Given the description of an element on the screen output the (x, y) to click on. 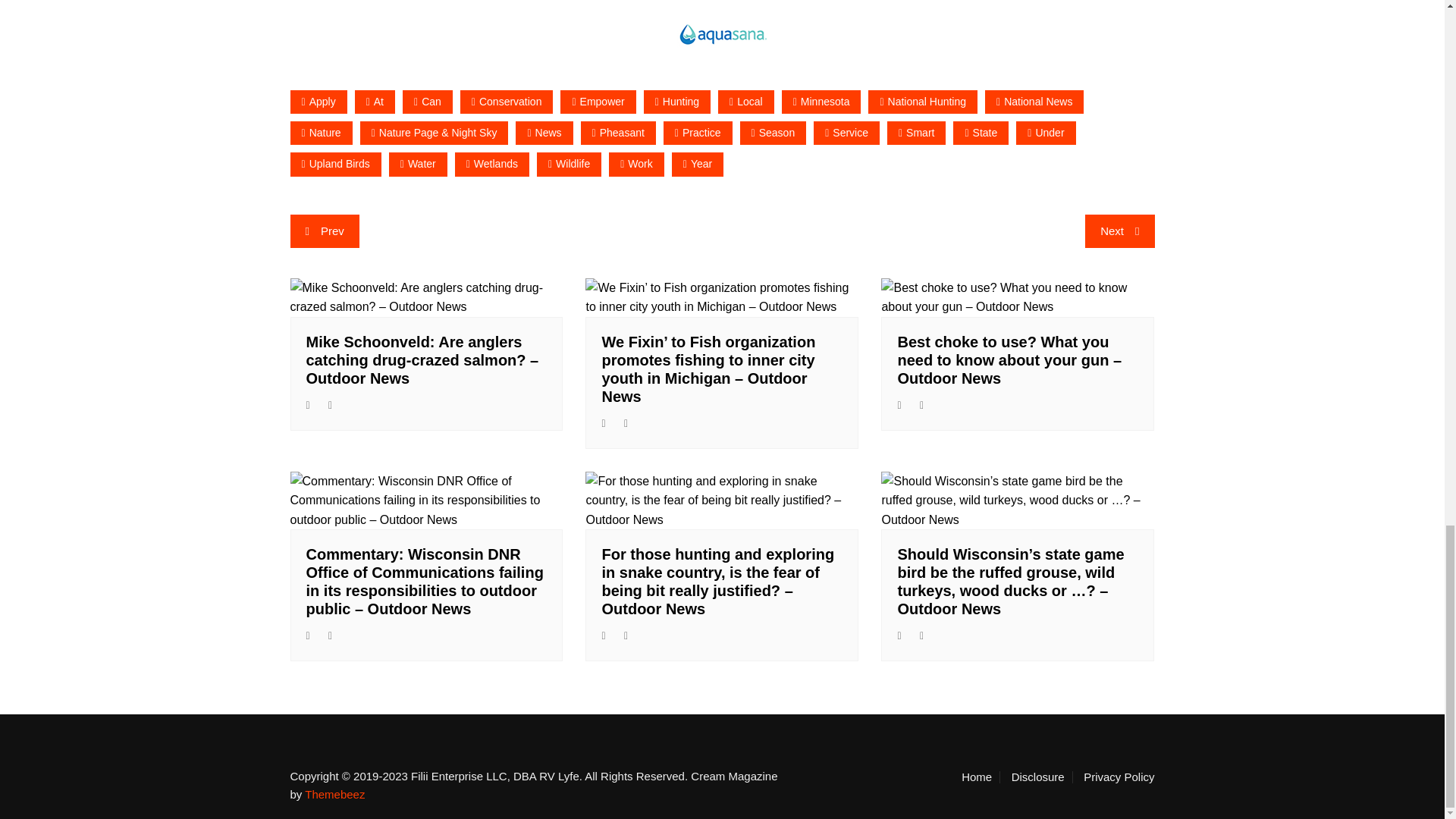
Smart (915, 132)
Service (846, 132)
Upland Birds (334, 164)
Season (772, 132)
Under (1045, 132)
State (981, 132)
Pheasant (618, 132)
Conservation (506, 101)
Apply (317, 101)
Nature (320, 132)
